Given the description of an element on the screen output the (x, y) to click on. 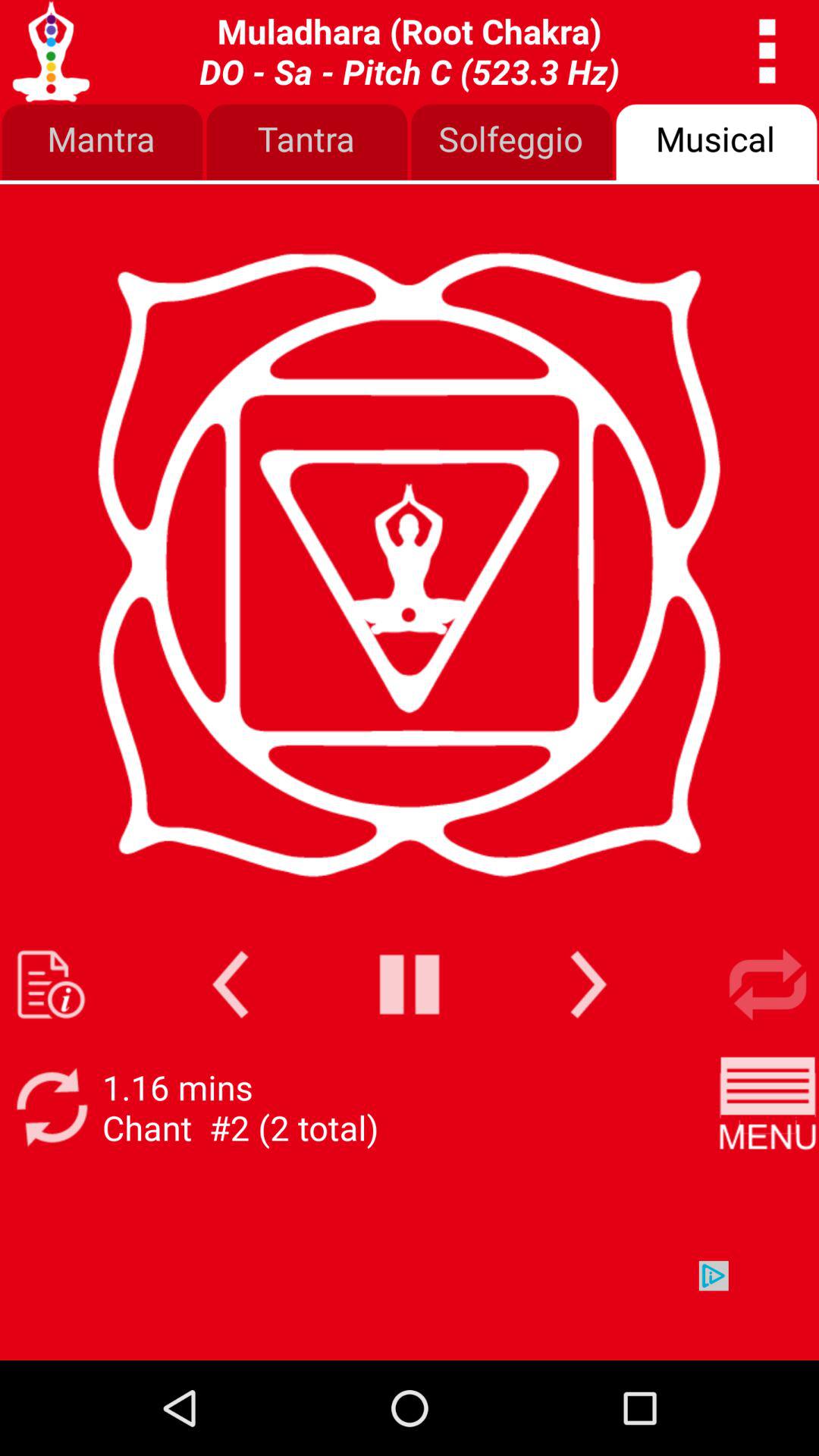
turn off icon below the svadhishthana sacral chakra app (306, 143)
